Given the description of an element on the screen output the (x, y) to click on. 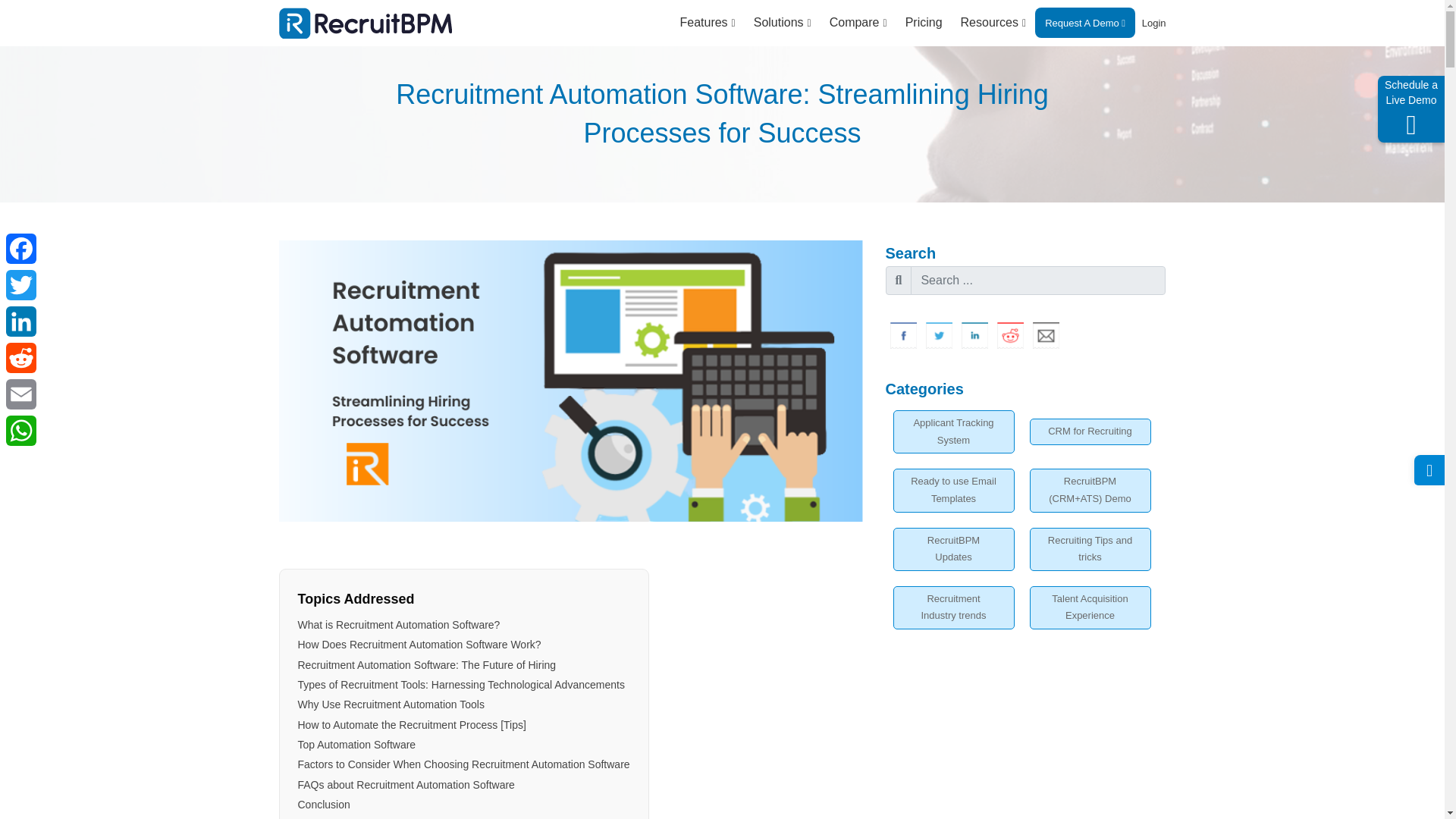
Resources (993, 22)
Compare (858, 22)
Twitter (20, 284)
WhatsApp (20, 430)
LinkedIn (974, 334)
Solutions (782, 22)
Twitter (938, 334)
Email (1045, 334)
Reddit (1009, 334)
Facebook (903, 334)
